Given the description of an element on the screen output the (x, y) to click on. 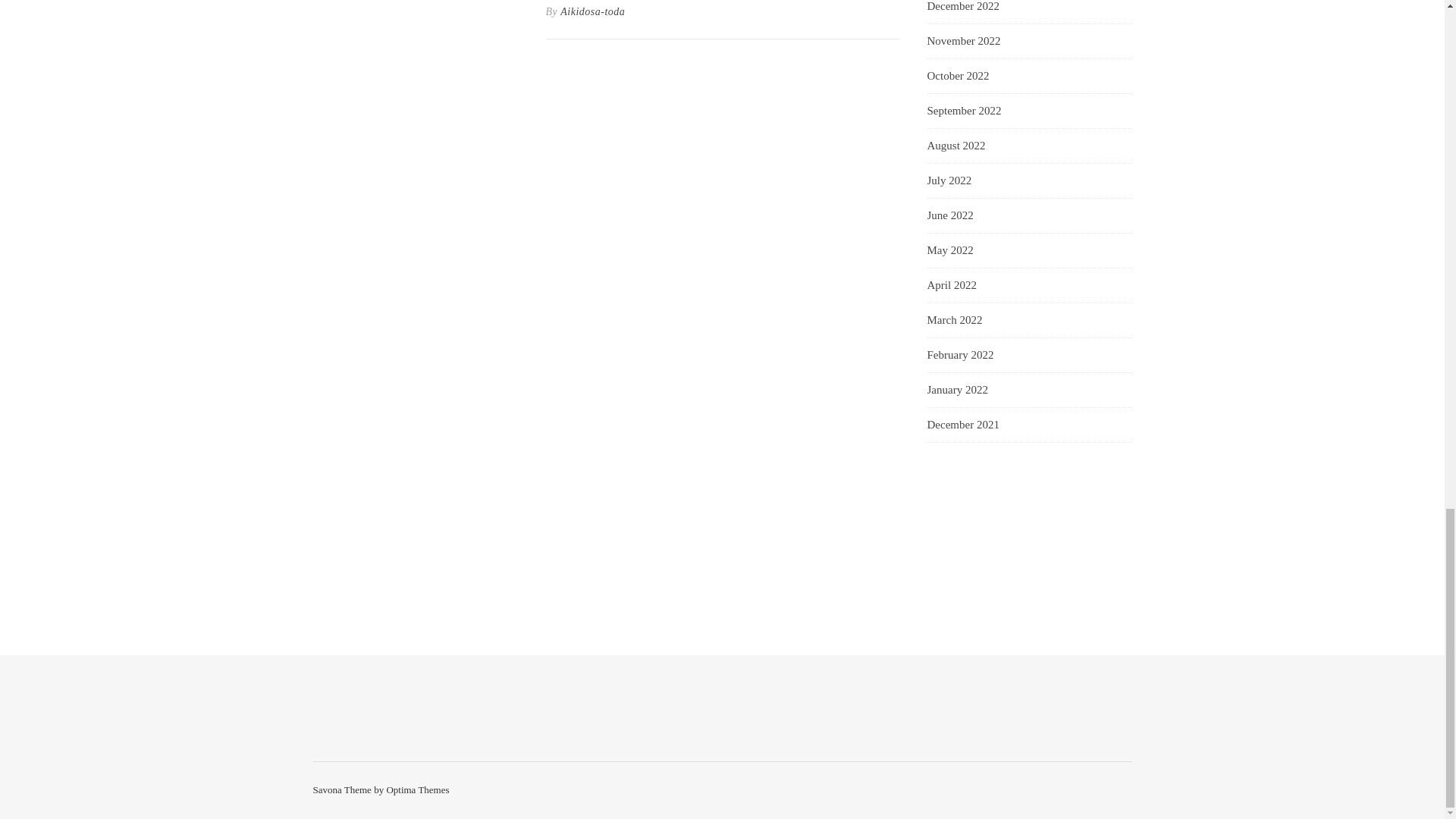
Aikidosa-toda (592, 11)
Posts by Aikidosa-toda (592, 11)
